Given the description of an element on the screen output the (x, y) to click on. 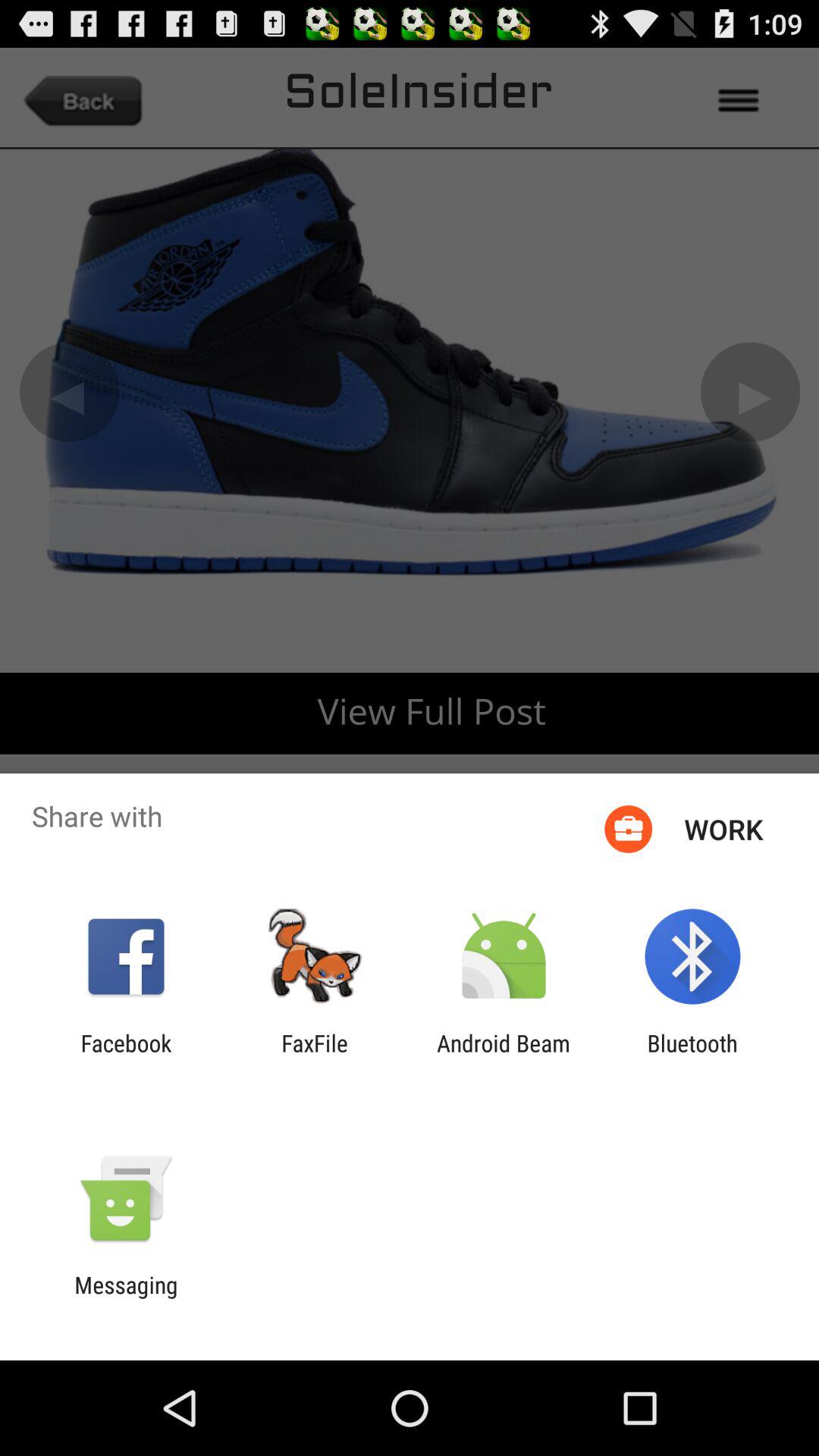
press the item to the left of faxfile (125, 1056)
